Given the description of an element on the screen output the (x, y) to click on. 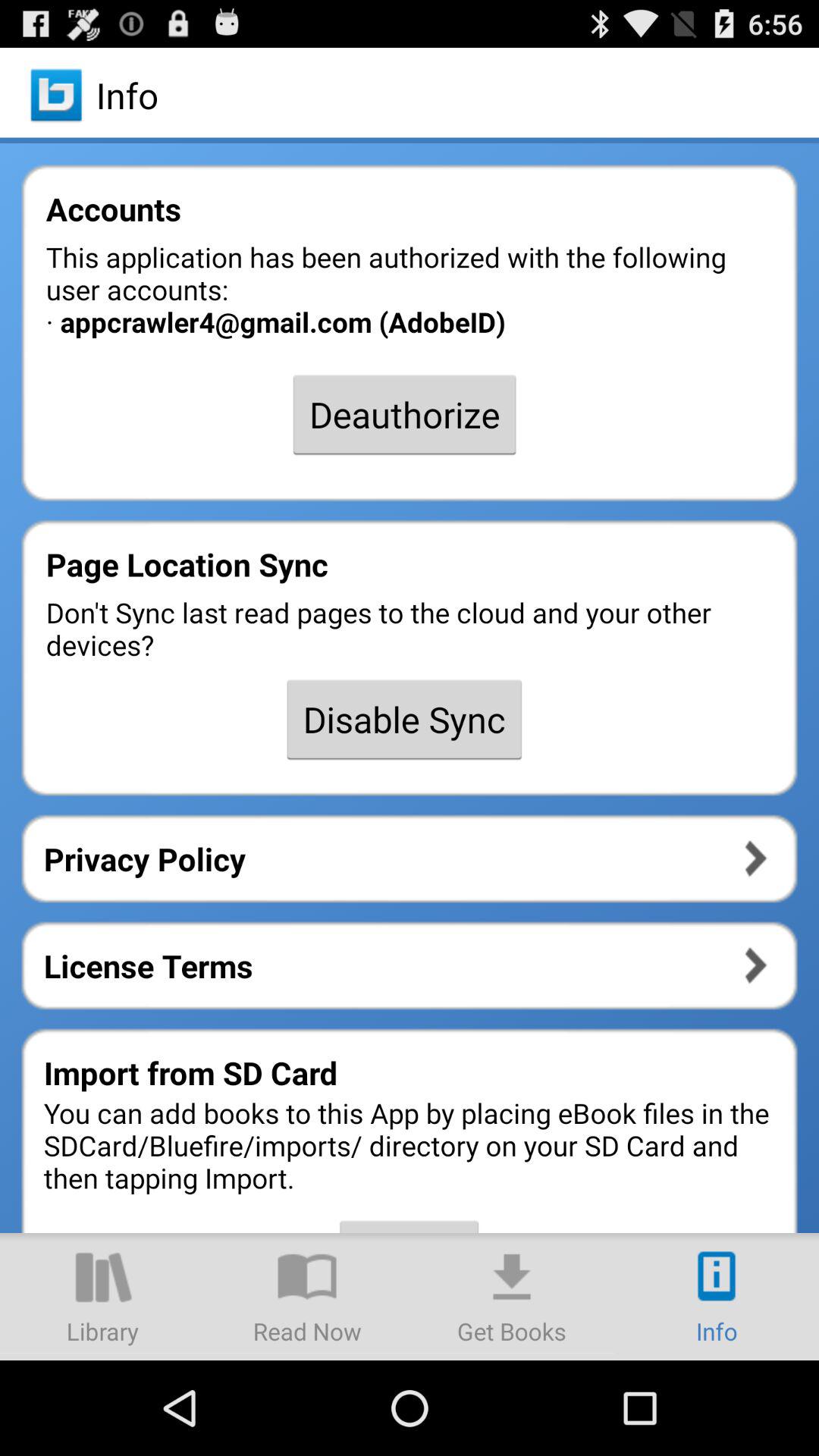
tap the icon below the you can add item (716, 1296)
